Given the description of an element on the screen output the (x, y) to click on. 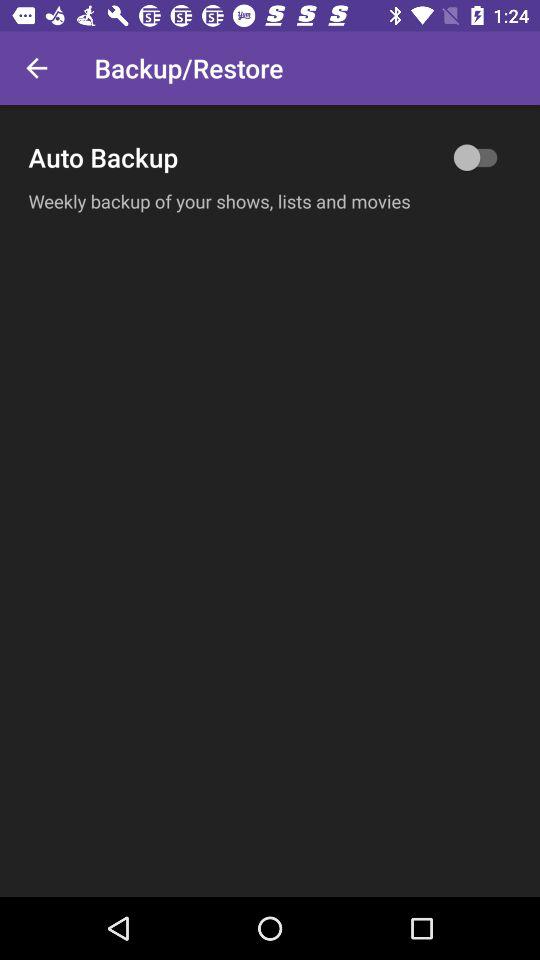
turn off the icon at the top left corner (36, 68)
